Given the description of an element on the screen output the (x, y) to click on. 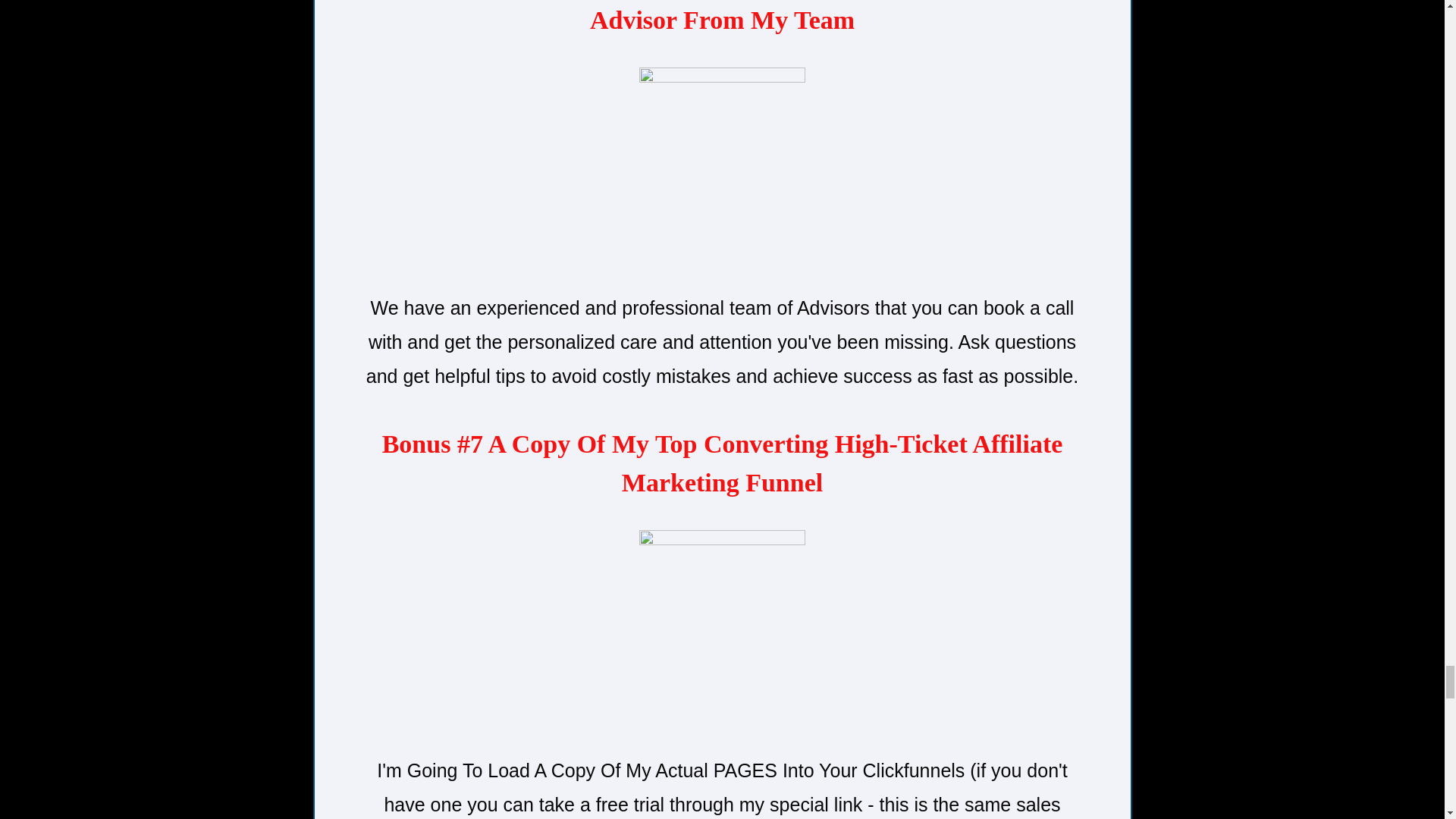
Personal 1 on 1 (722, 171)
Affiliate Marketing Funnel (722, 633)
